Given the description of an element on the screen output the (x, y) to click on. 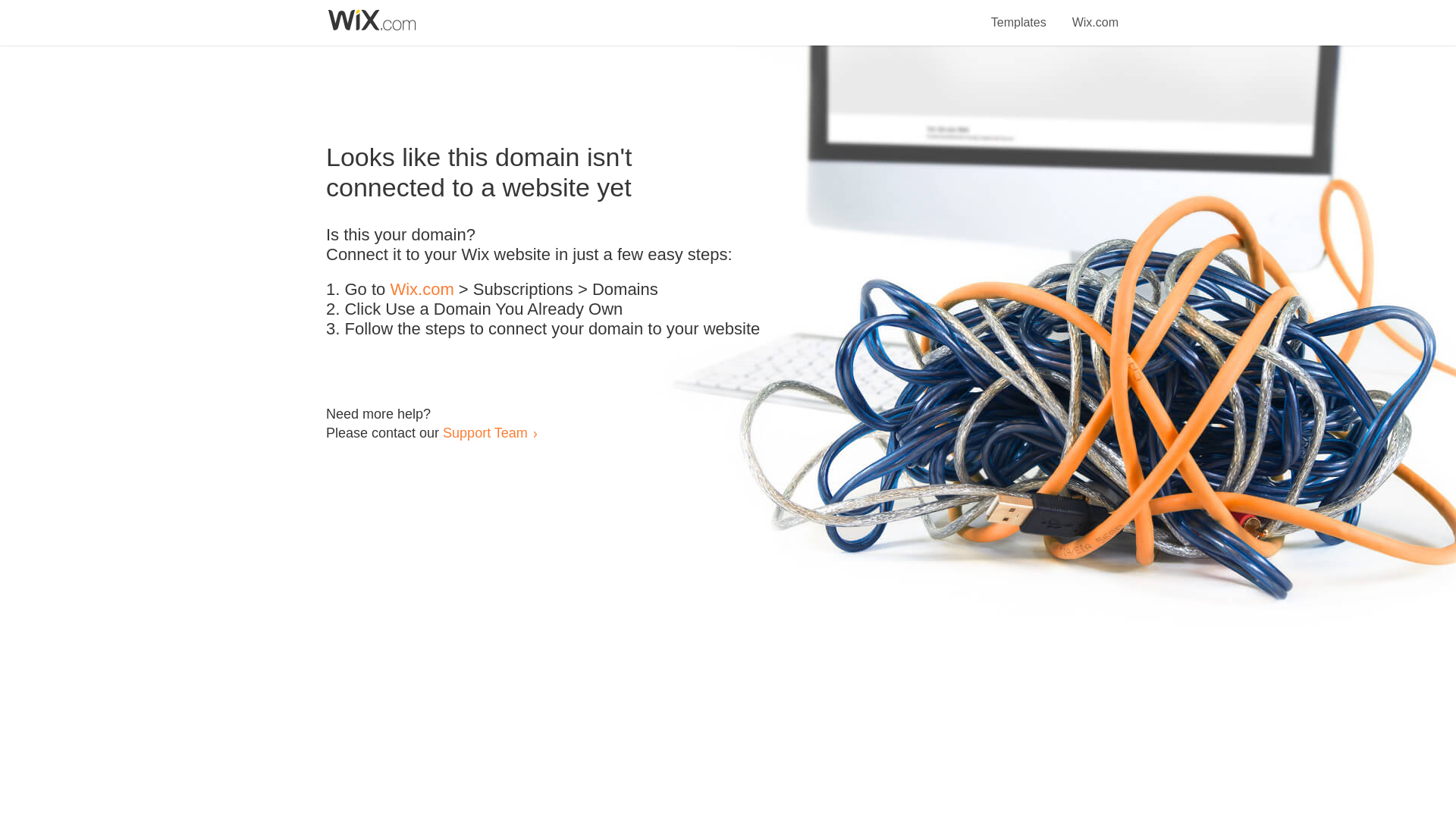
Support Team (484, 432)
Wix.com (1095, 14)
Wix.com (421, 289)
Templates (1018, 14)
